Given the description of an element on the screen output the (x, y) to click on. 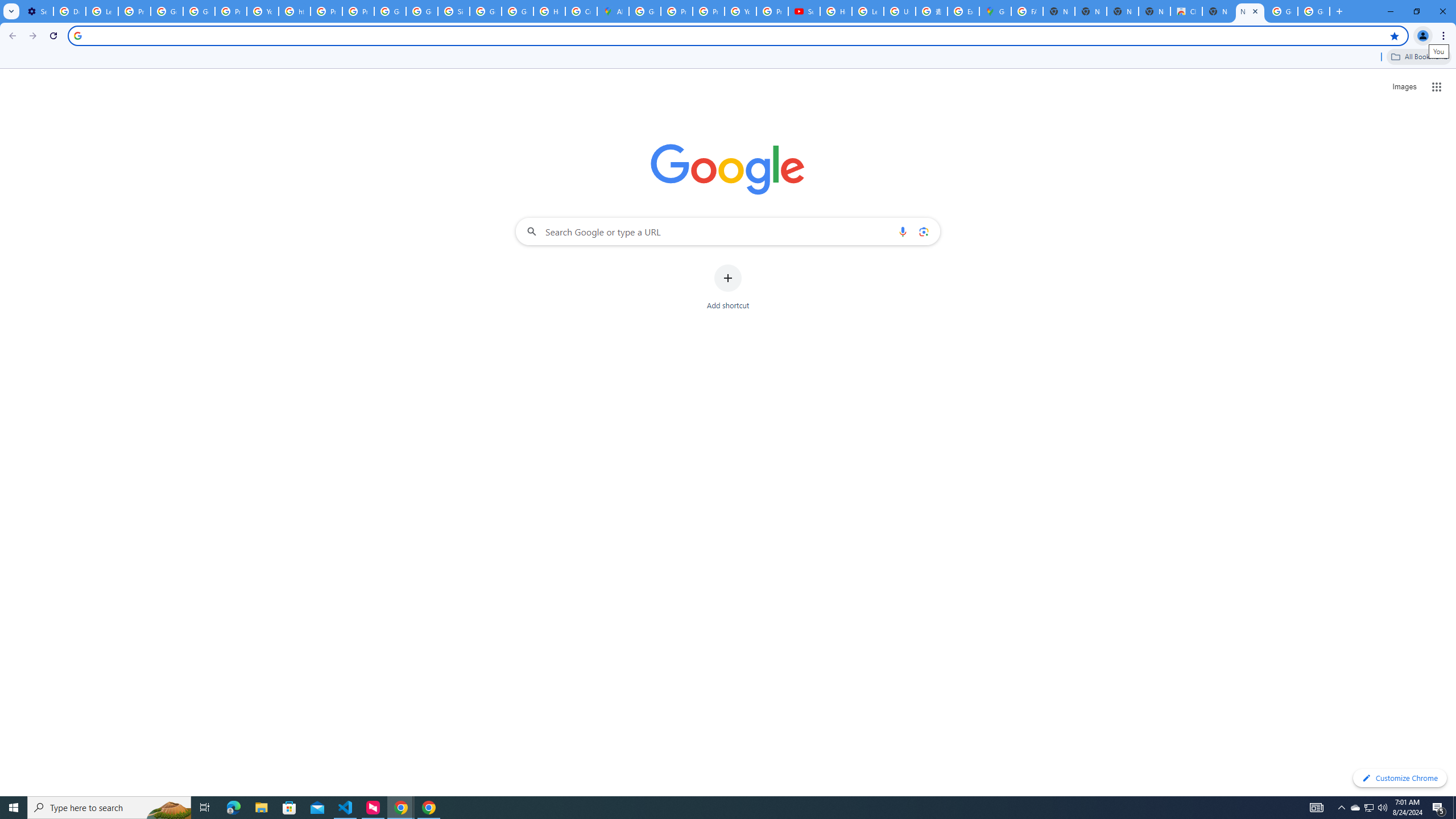
Google Maps (995, 11)
Settings - On startup (37, 11)
